Given the description of an element on the screen output the (x, y) to click on. 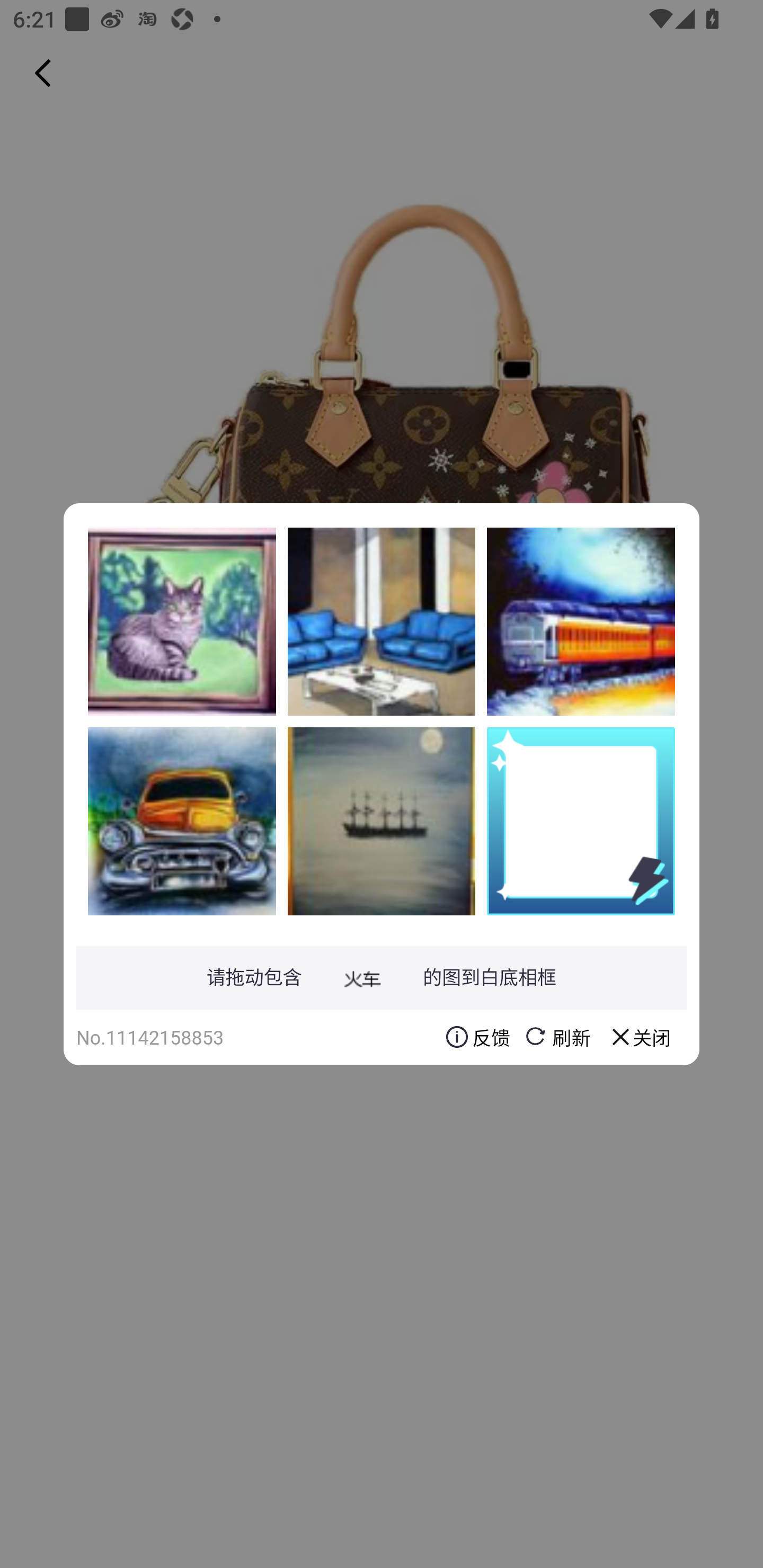
covlBL (181, 621)
wffFUdzBtdd1aWGxKabi9cwEpFJmnrlqgeg3wU (580, 621)
